Given the description of an element on the screen output the (x, y) to click on. 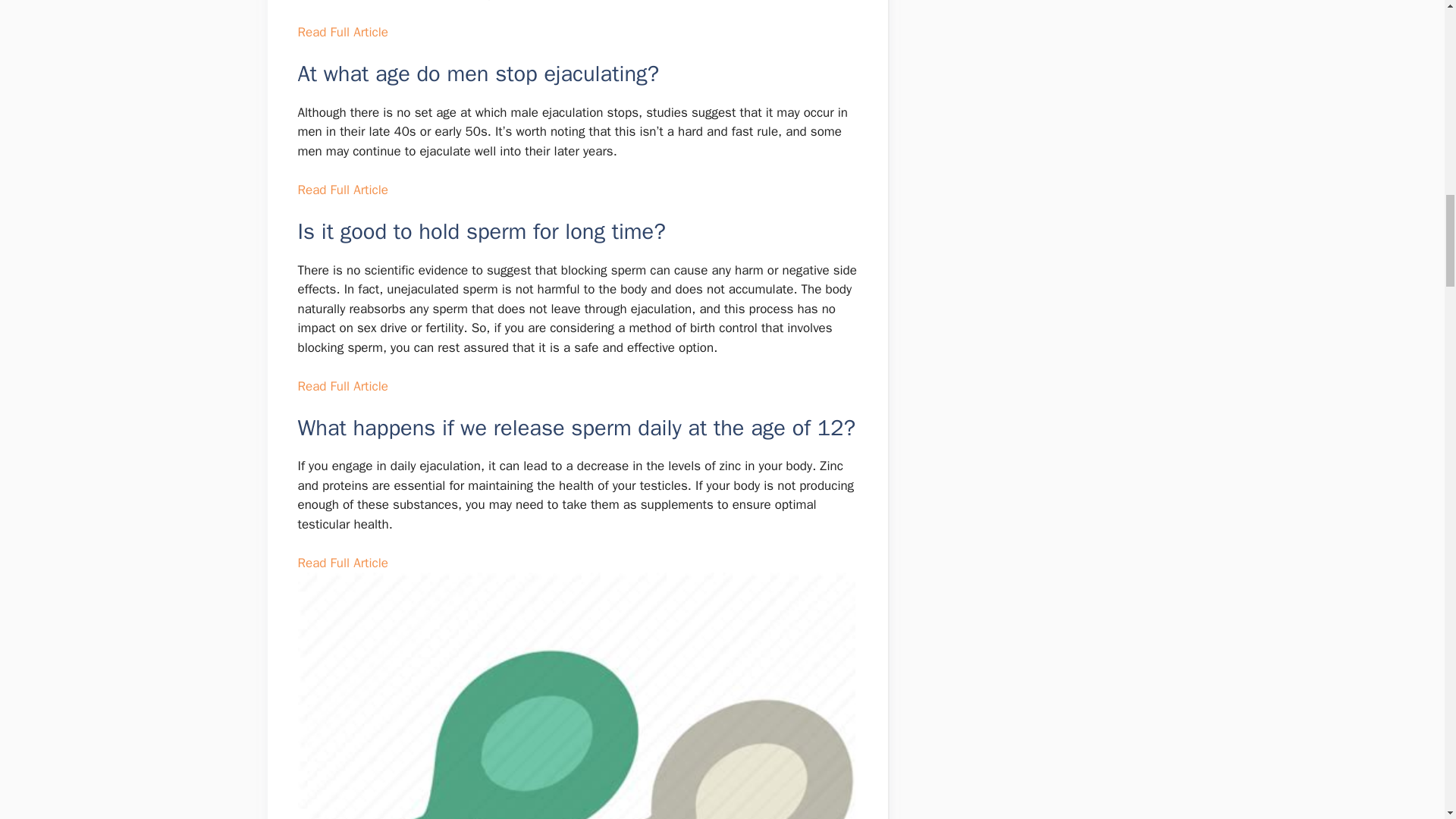
Read Full Article (342, 32)
Read Full Article (342, 189)
Read Full Article (342, 385)
Read Full Article (342, 562)
